Given the description of an element on the screen output the (x, y) to click on. 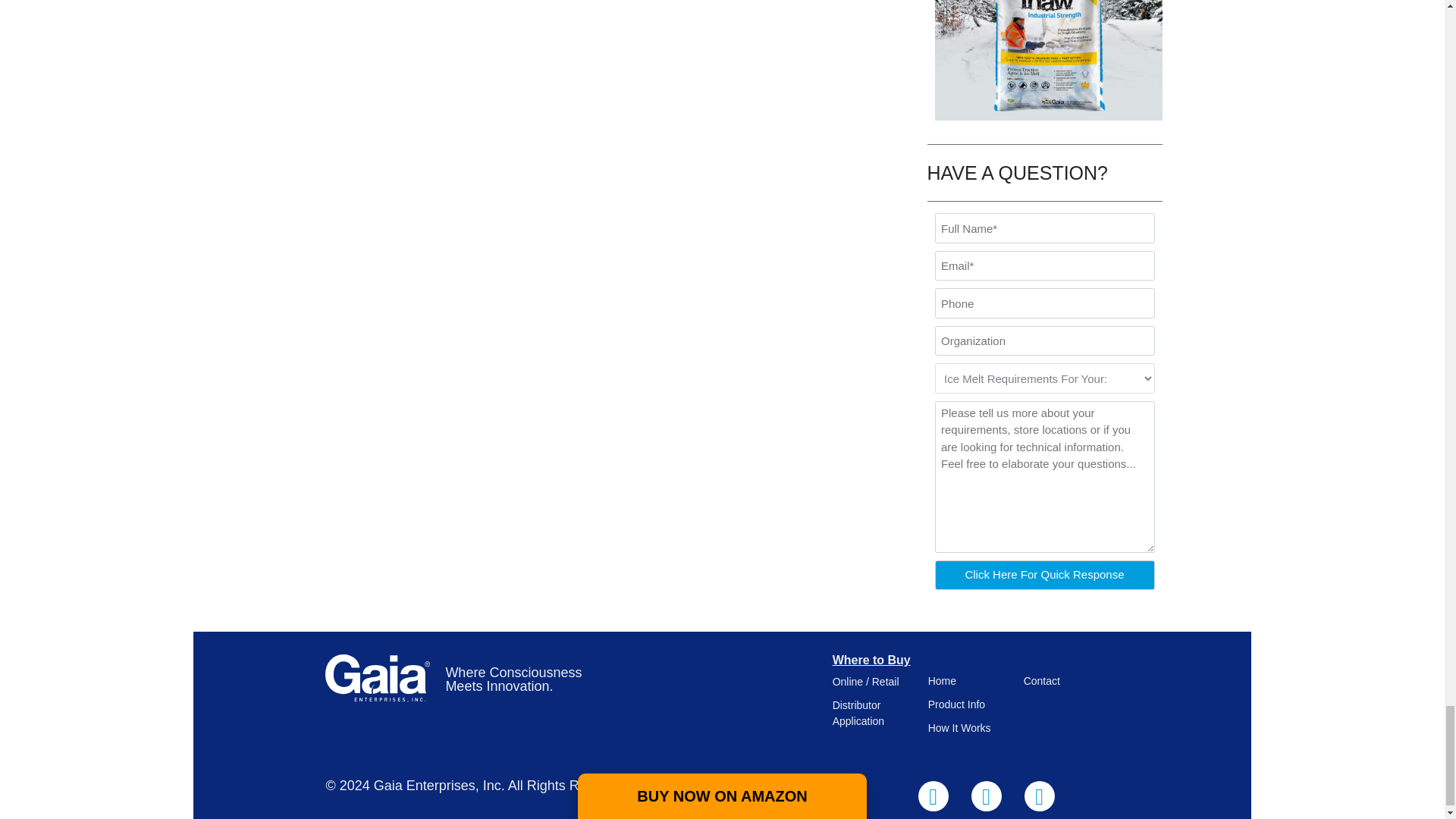
Click Here For Quick Response (1044, 575)
